Given the description of an element on the screen output the (x, y) to click on. 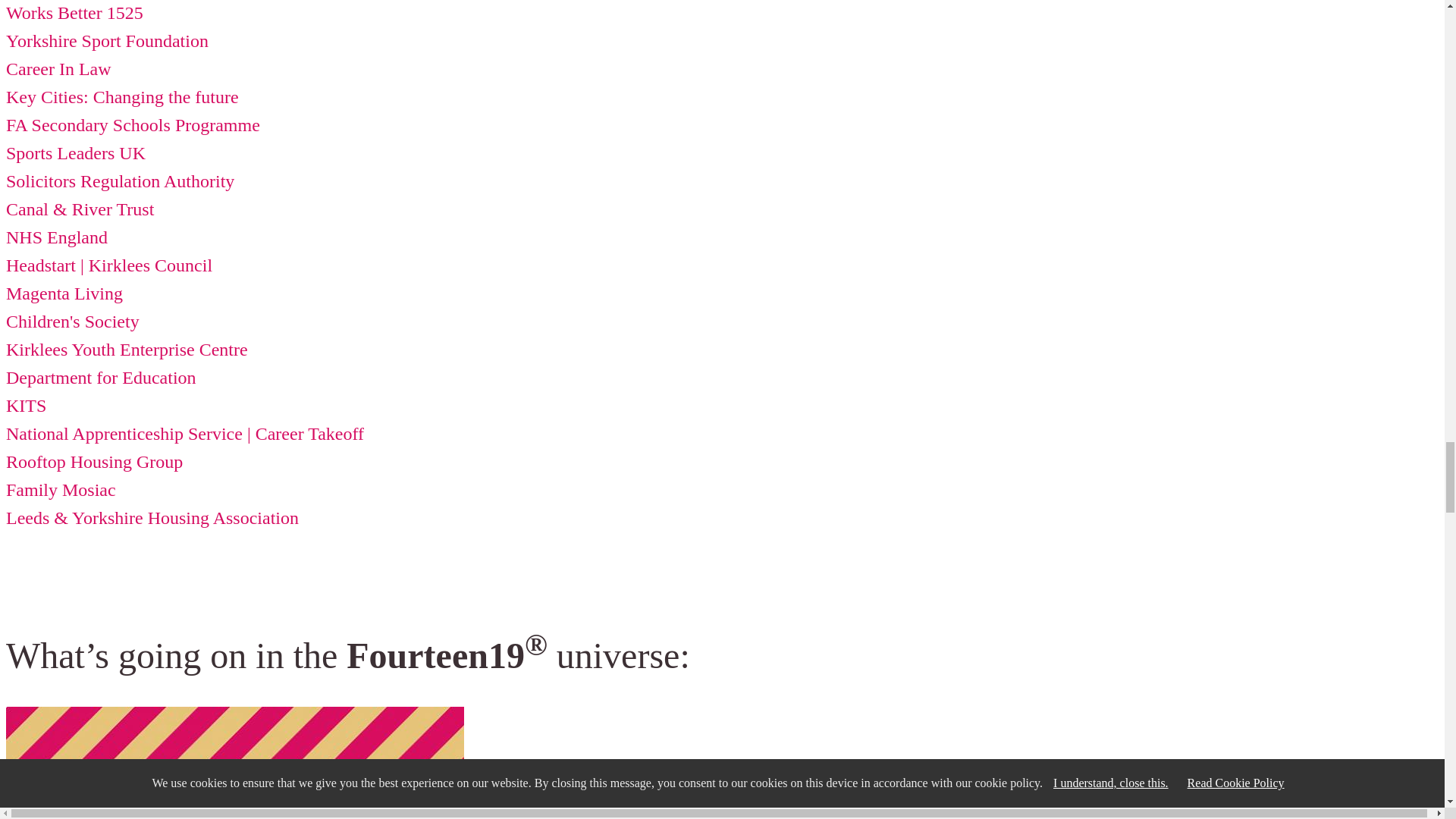
Kirklees Youth Enterprise Centre (126, 349)
Sports Leaders UK (75, 152)
Children's Society (72, 321)
Key Cities: Changing the future (121, 96)
Works Better 1525 (73, 12)
Career In Law (58, 68)
Yorkshire Sport Foundation (106, 40)
Solicitors Regulation Authority (119, 180)
FA Secondary Schools Programme (132, 125)
Department for Education (100, 377)
KITS (25, 405)
NHS England (56, 237)
Magenta Living (63, 293)
